Given the description of an element on the screen output the (x, y) to click on. 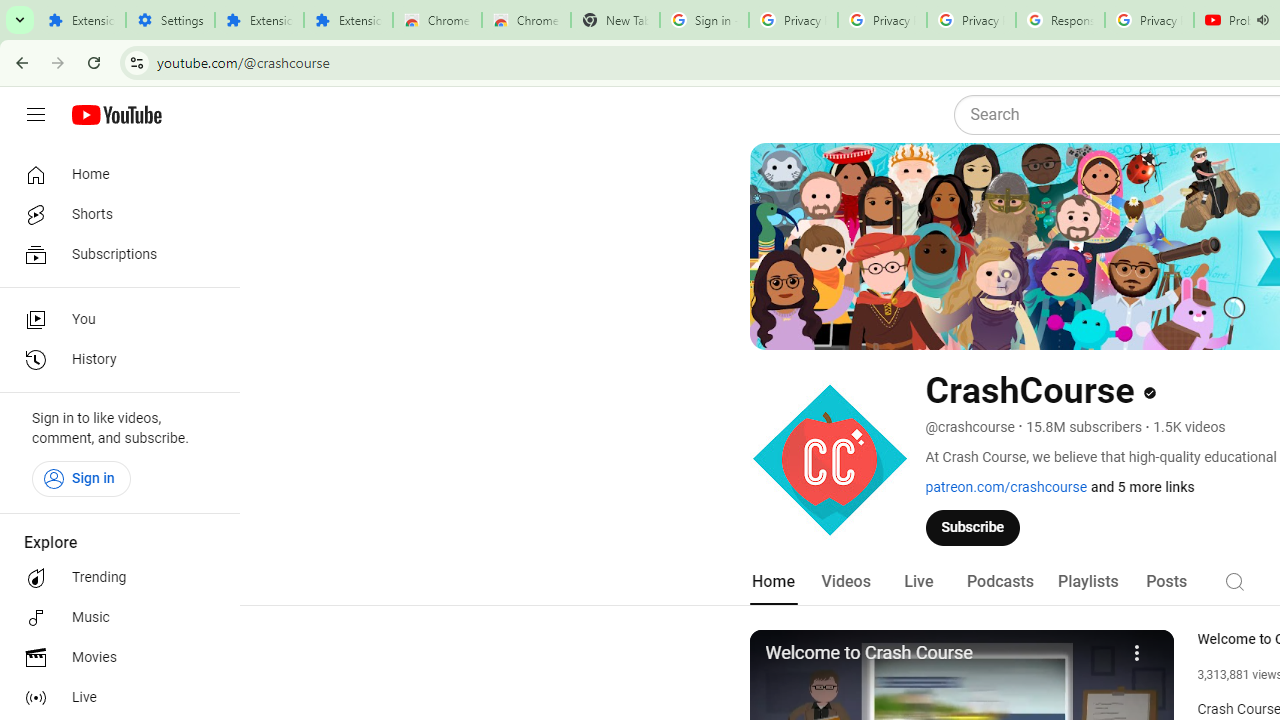
New Tab (615, 20)
Trending (113, 578)
patreon.com/crashcourse (1006, 487)
Podcasts (1000, 581)
Subscriptions (113, 254)
Live (113, 697)
Extensions (81, 20)
Home (113, 174)
History (113, 359)
YouTube Home (116, 115)
